Given the description of an element on the screen output the (x, y) to click on. 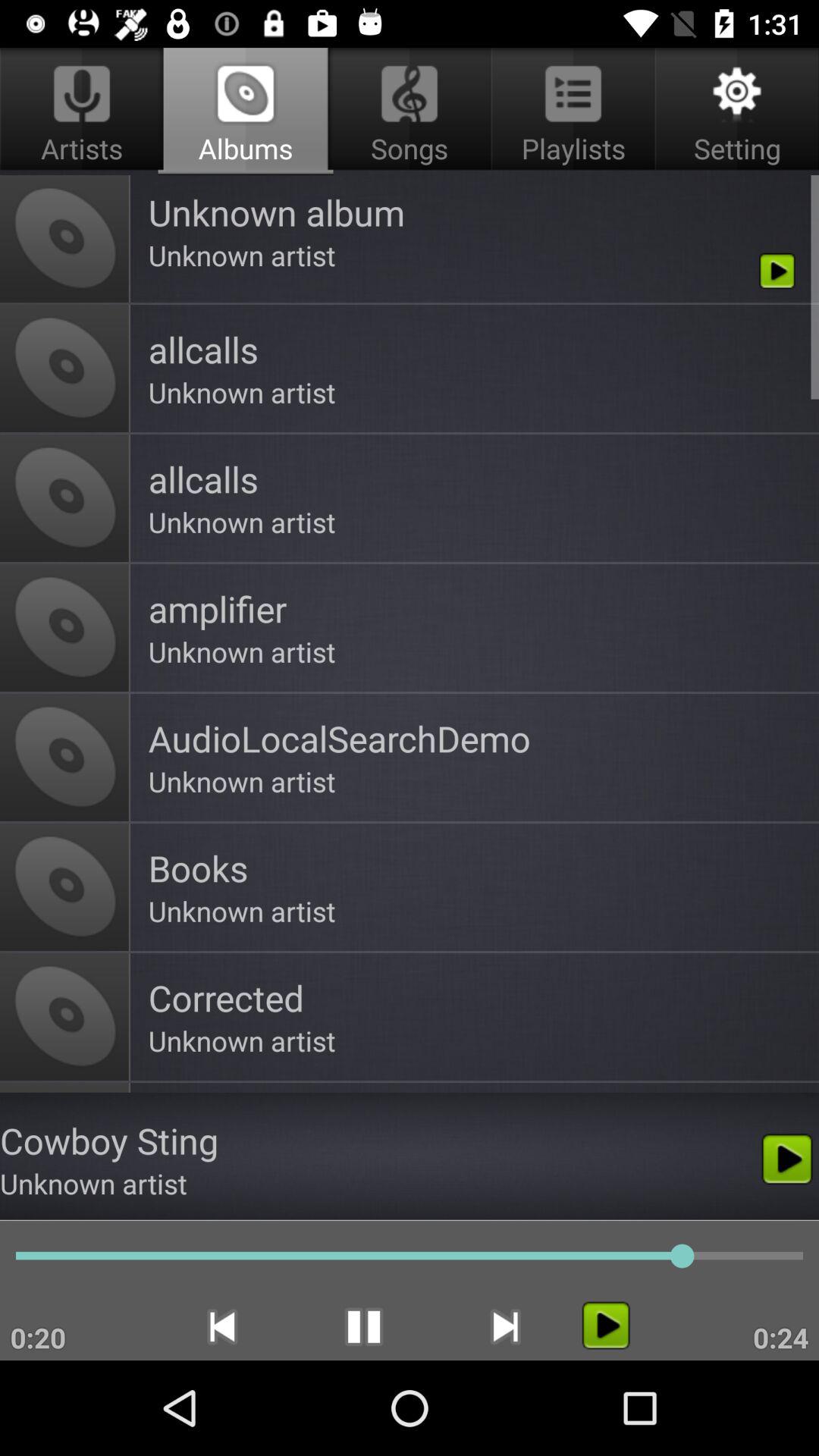
tap setting item (734, 111)
